Given the description of an element on the screen output the (x, y) to click on. 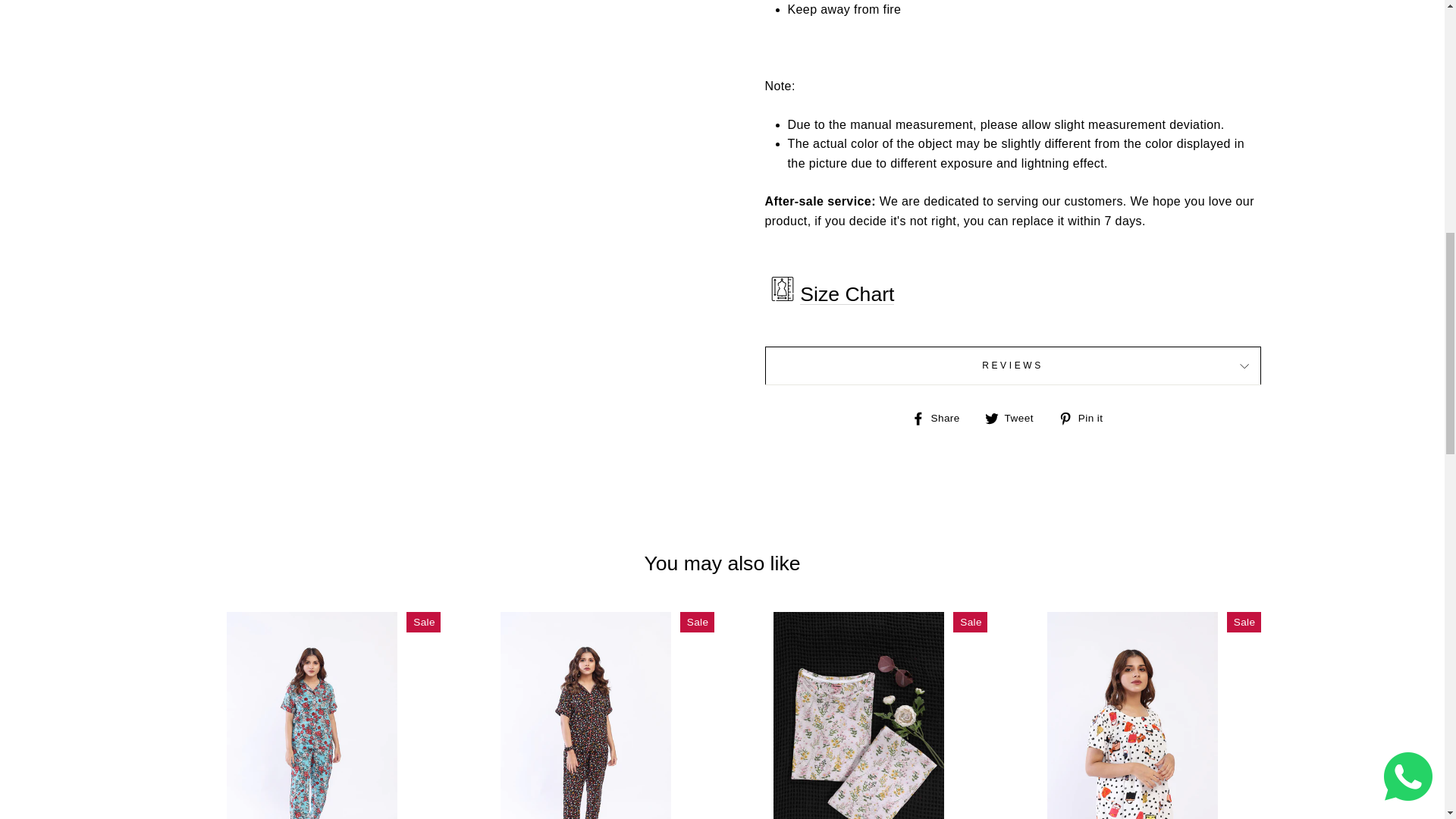
Share on Facebook (941, 417)
Size Chart The Agype (846, 294)
Tweet on Twitter (1015, 417)
Pin on Pinterest (1085, 417)
